Given the description of an element on the screen output the (x, y) to click on. 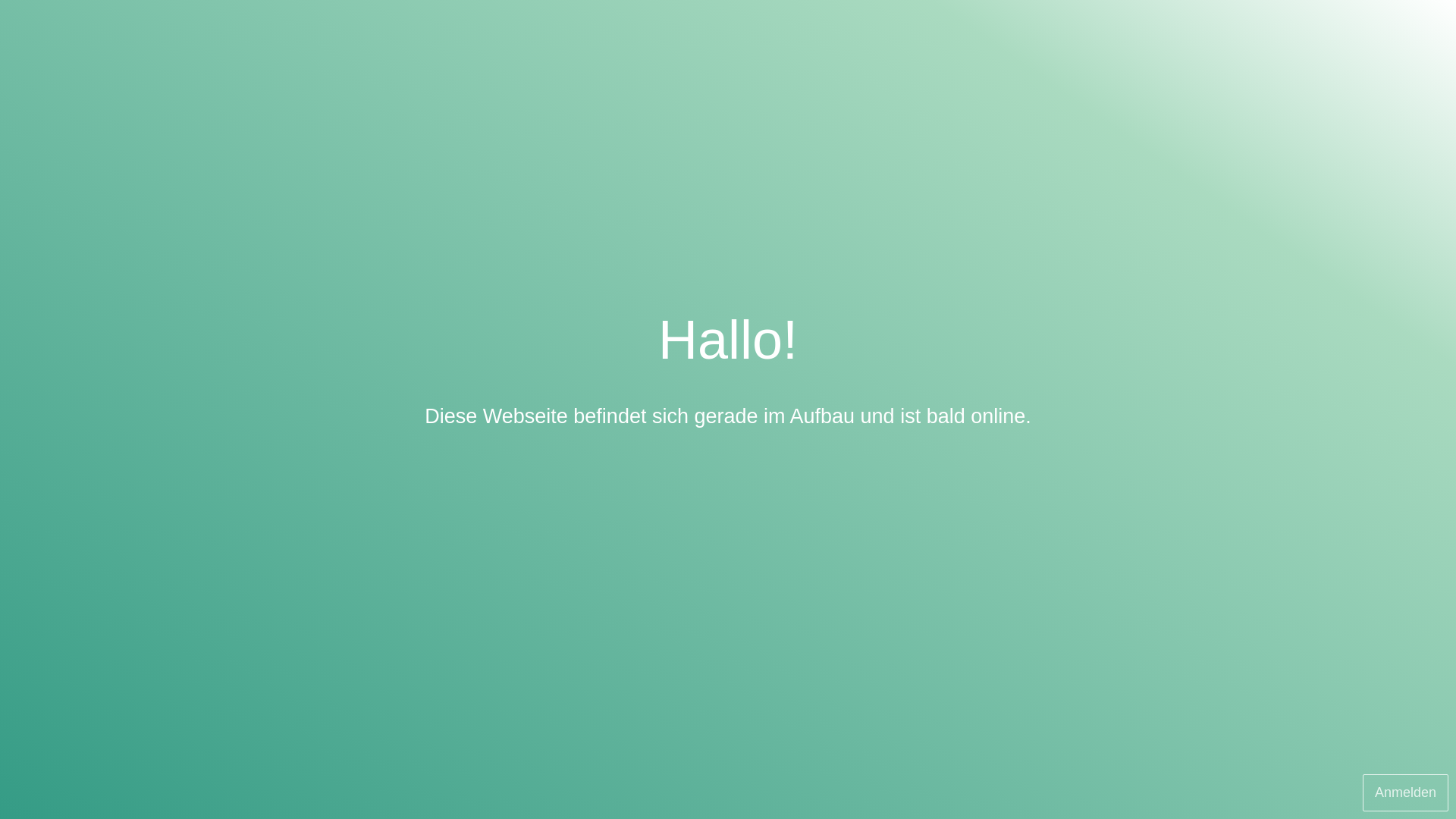
Anmelden Element type: text (1405, 792)
